Given the description of an element on the screen output the (x, y) to click on. 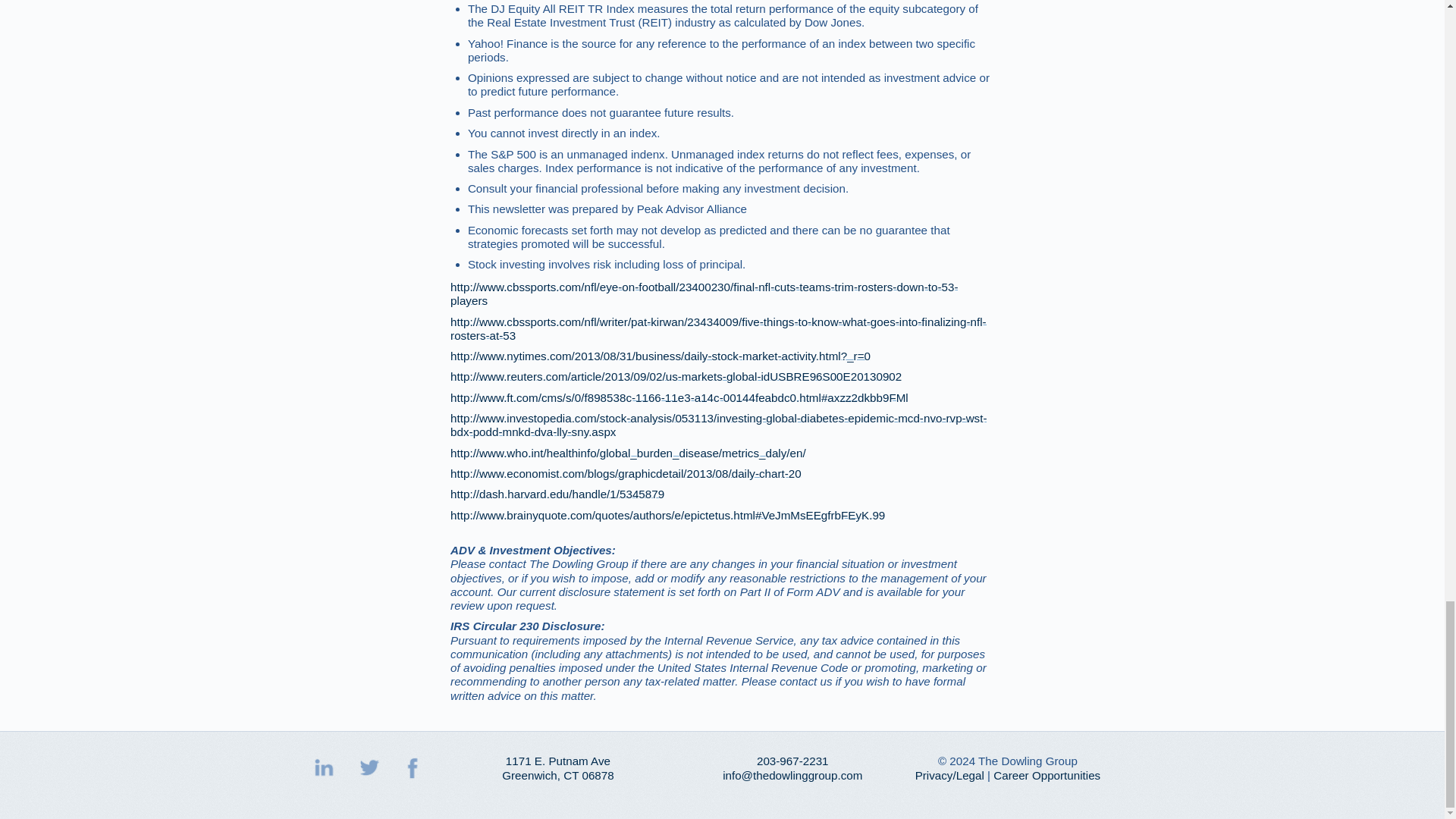
Career Opportunities (1046, 775)
Connect with The Dowling Group on Twitter (369, 767)
Connect with The Dowling Group on Facebook (609, 768)
Connect with The Dowling Group on LinkedIn (414, 767)
